Given the description of an element on the screen output the (x, y) to click on. 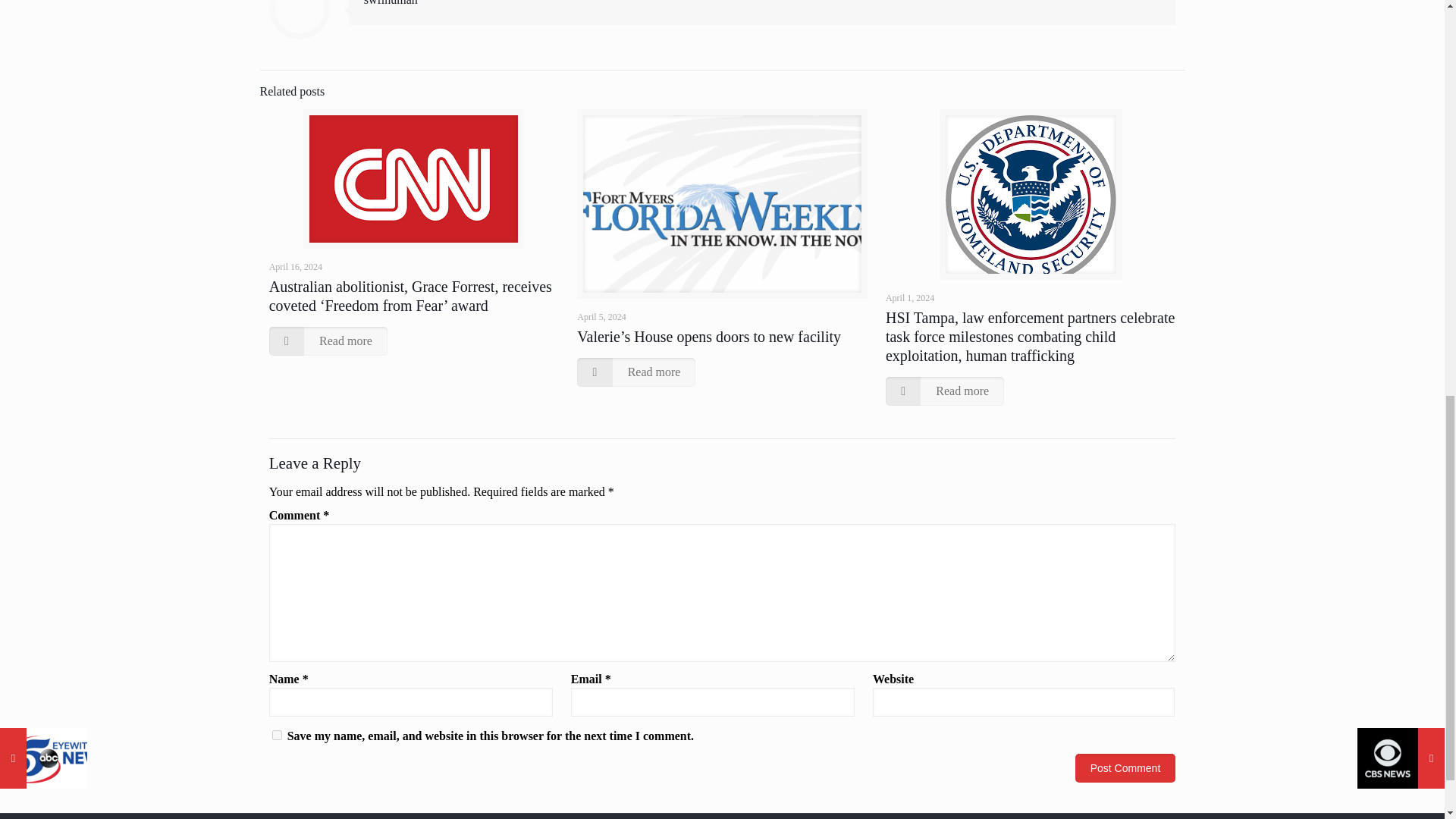
Read more (635, 371)
Read more (328, 340)
Post Comment (1125, 767)
swflhuman (390, 2)
yes (277, 735)
